Given the description of an element on the screen output the (x, y) to click on. 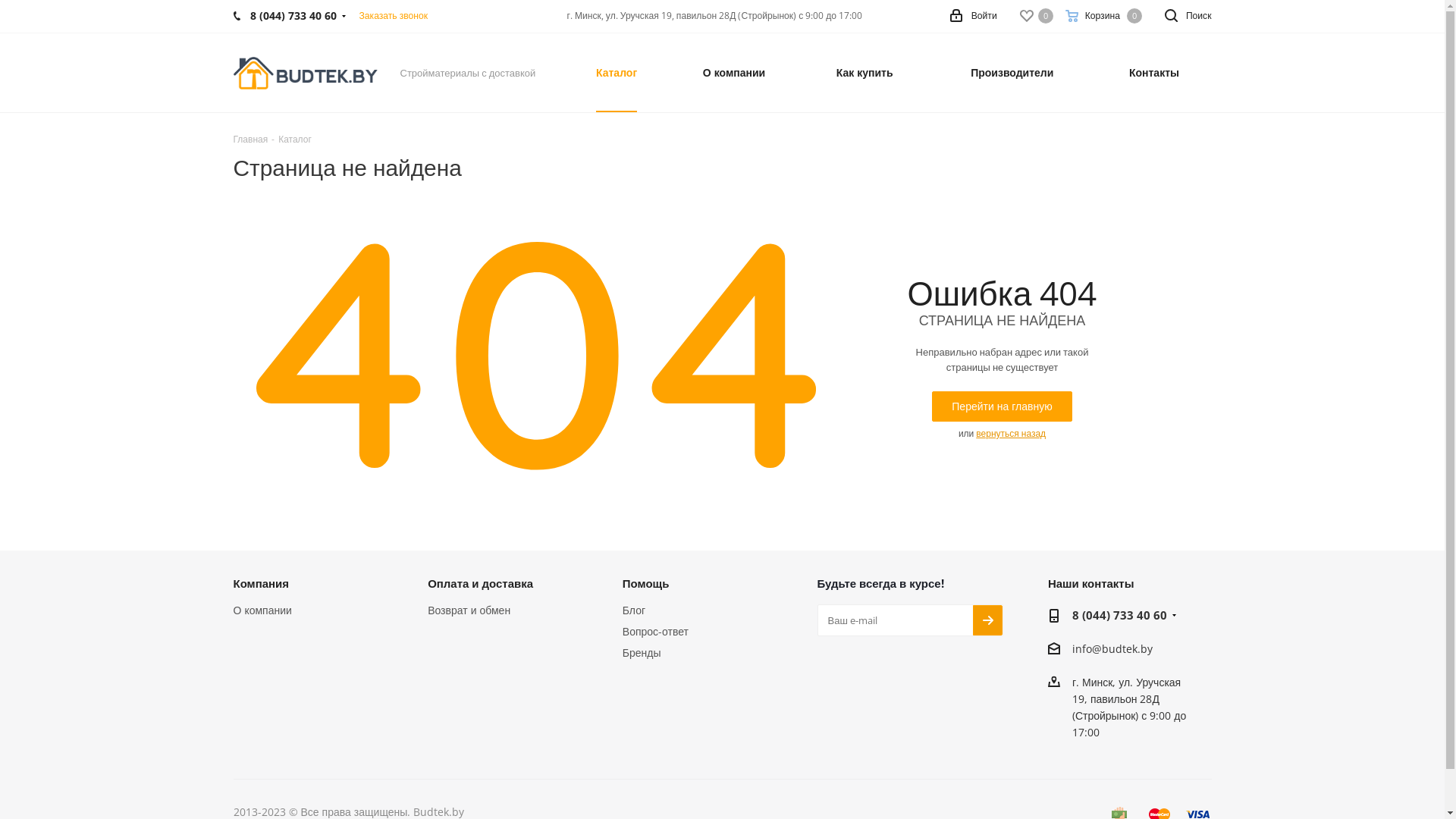
8 (044) 733 40 60 Element type: text (1119, 615)
Budtek.by Element type: hover (305, 72)
info@budtek.by Element type: text (1112, 648)
